Given the description of an element on the screen output the (x, y) to click on. 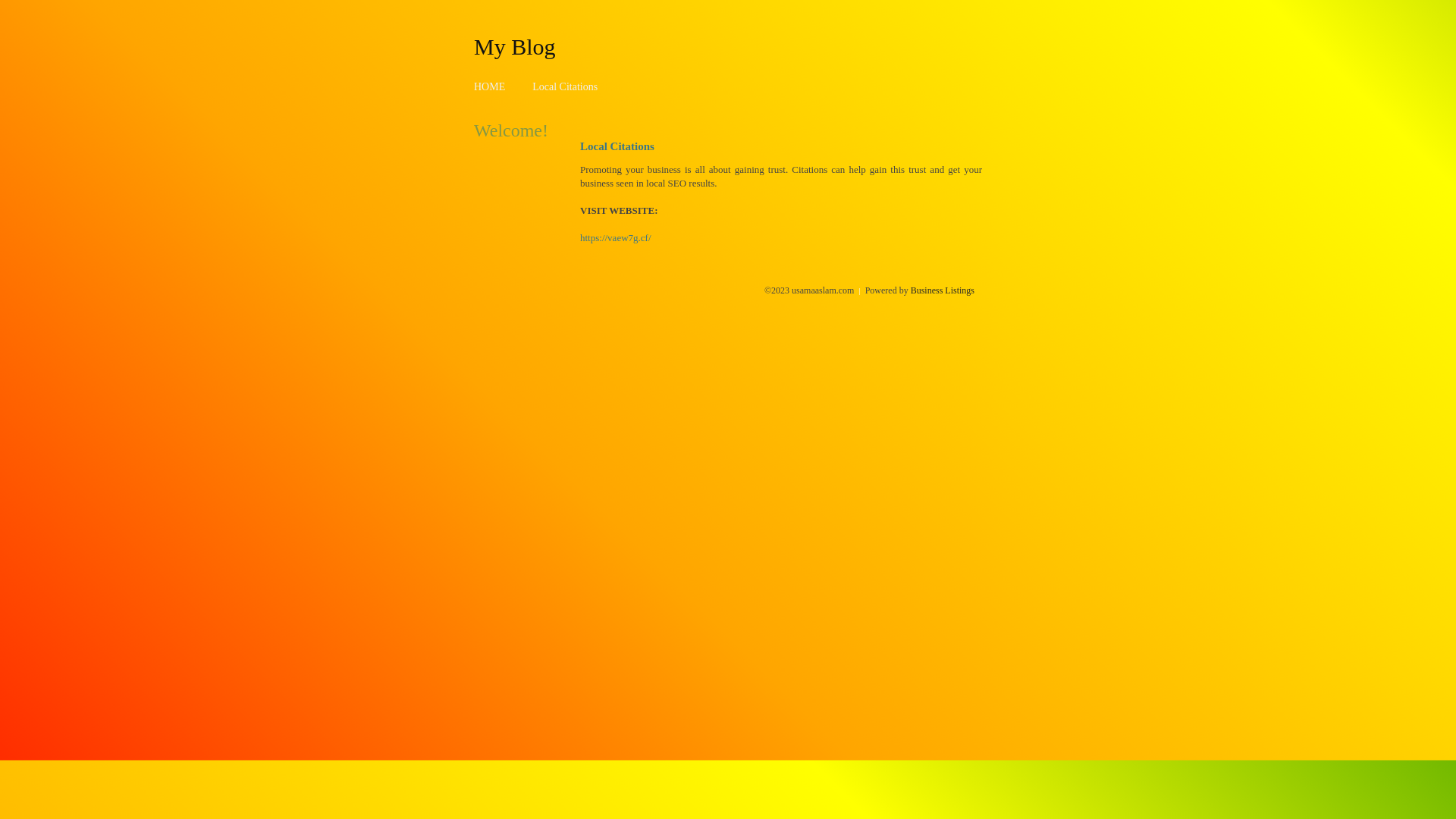
My Blog Element type: text (514, 46)
HOME Element type: text (489, 86)
Local Citations Element type: text (564, 86)
Business Listings Element type: text (942, 290)
https://vaew7g.cf/ Element type: text (615, 237)
